Given the description of an element on the screen output the (x, y) to click on. 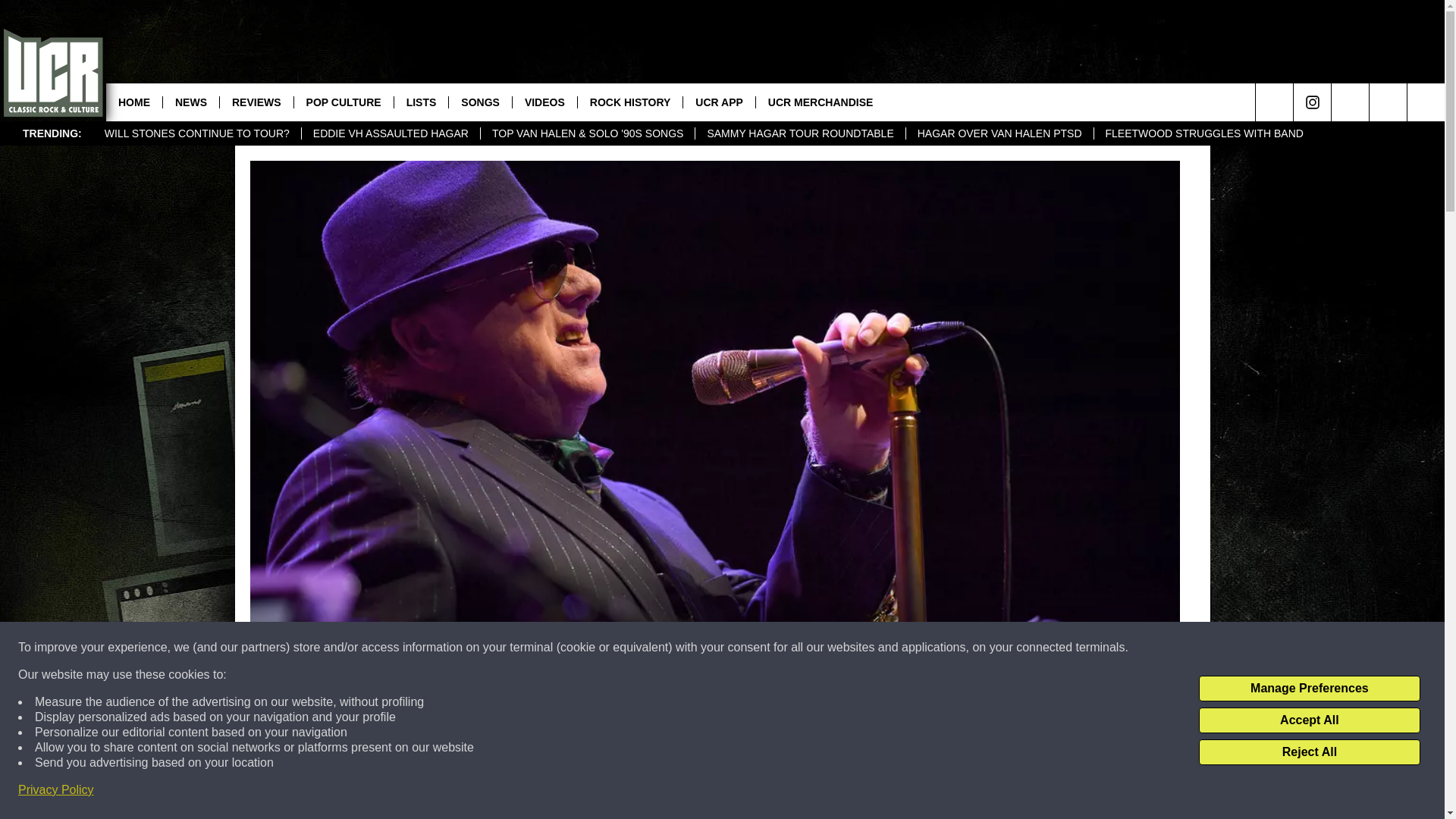
Visit us on Facebook (1388, 102)
REVIEWS (256, 102)
TWEET (912, 791)
HAGAR OVER VAN HALEN PTSD (999, 133)
POP CULTURE (343, 102)
UCR MERCHANDISE (820, 102)
WILL STONES CONTINUE TO TOUR? (197, 133)
Manage Preferences (1309, 688)
SAMMY HAGAR TOUR ROUNDTABLE (799, 133)
Privacy Policy (55, 789)
VIDEOS (544, 102)
TWEET (912, 791)
Visit us on Instagram (1312, 102)
Martin Kielty (278, 705)
FLEETWOOD STRUGGLES WITH BAND (1203, 133)
